Given the description of an element on the screen output the (x, y) to click on. 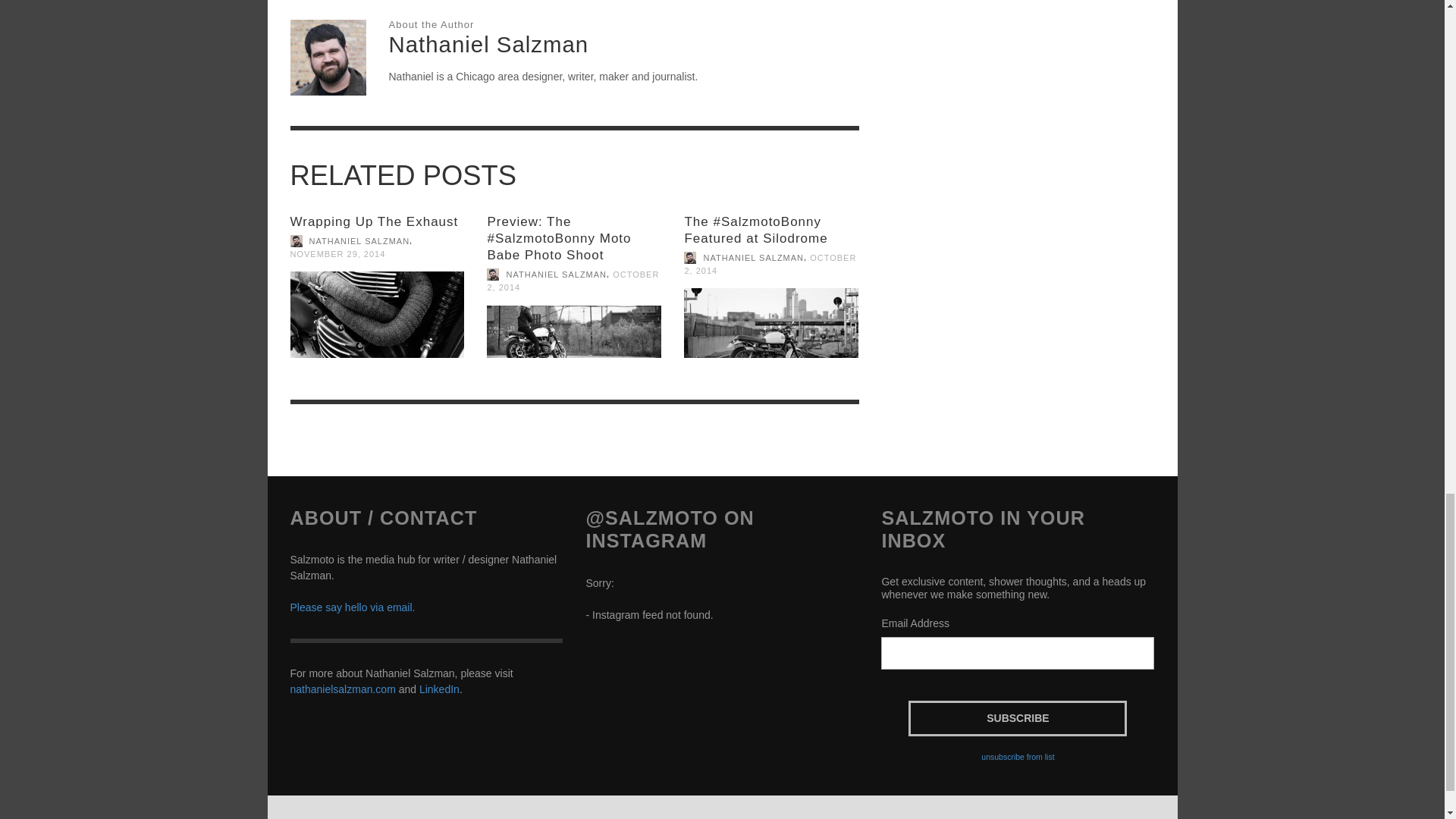
NOVEMBER 29, 2014 (337, 253)
Wrapping Up The Exhaust (373, 221)
Subscribe (1017, 718)
NATHANIEL SALZMAN (359, 240)
